Given the description of an element on the screen output the (x, y) to click on. 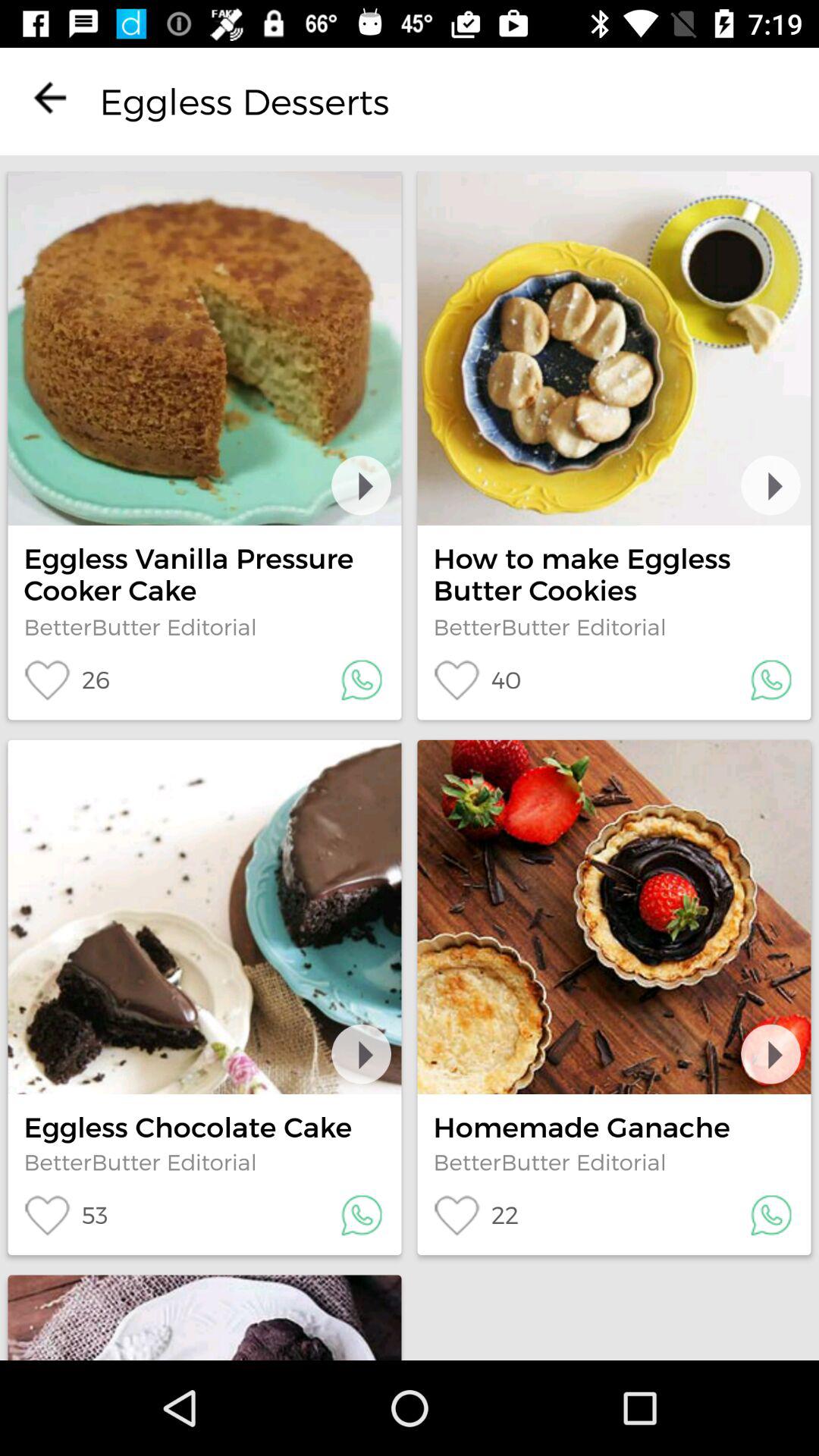
jump until the 40 item (477, 680)
